Given the description of an element on the screen output the (x, y) to click on. 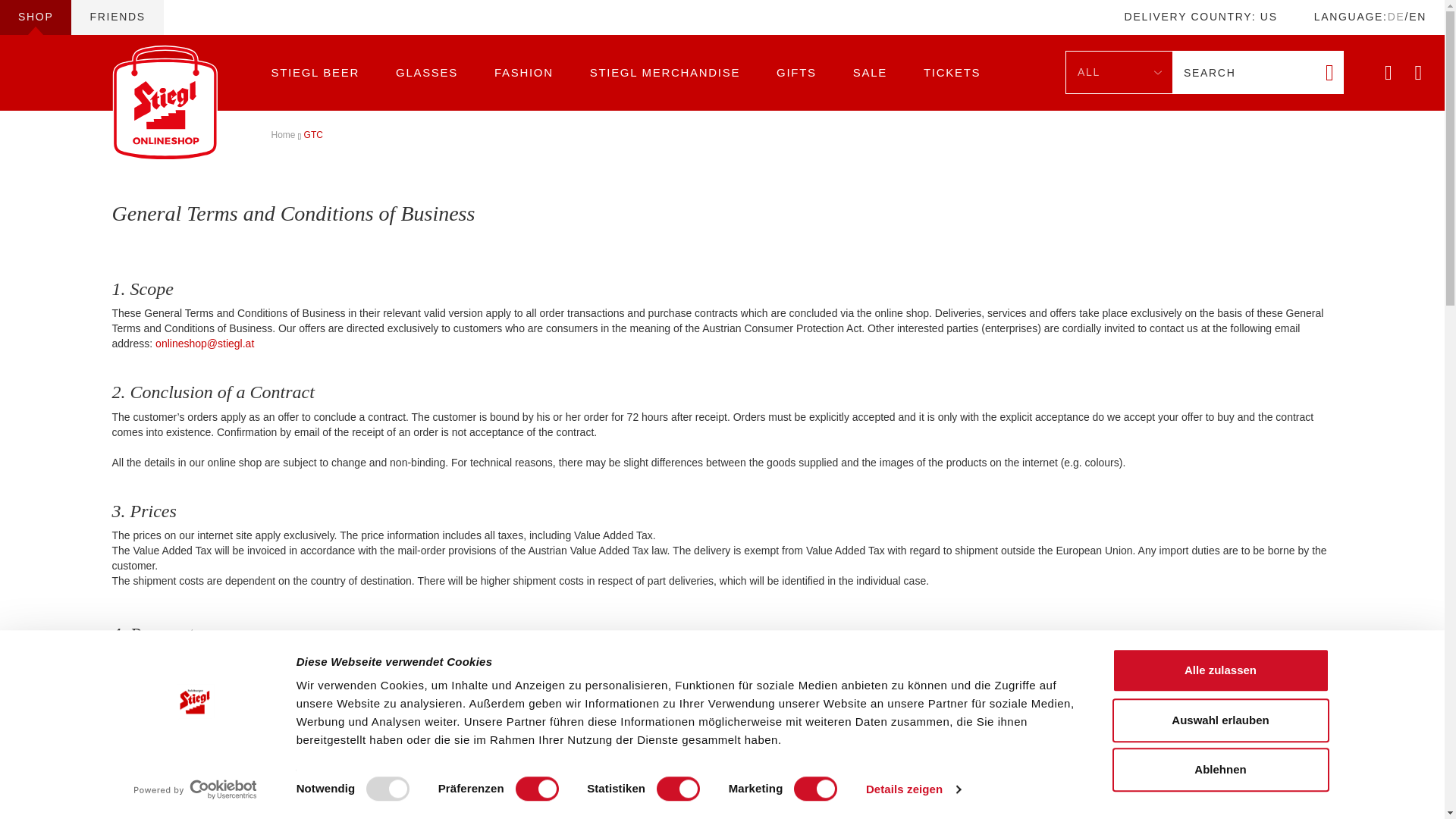
Search (1244, 72)
Details zeigen (913, 789)
